Given the description of an element on the screen output the (x, y) to click on. 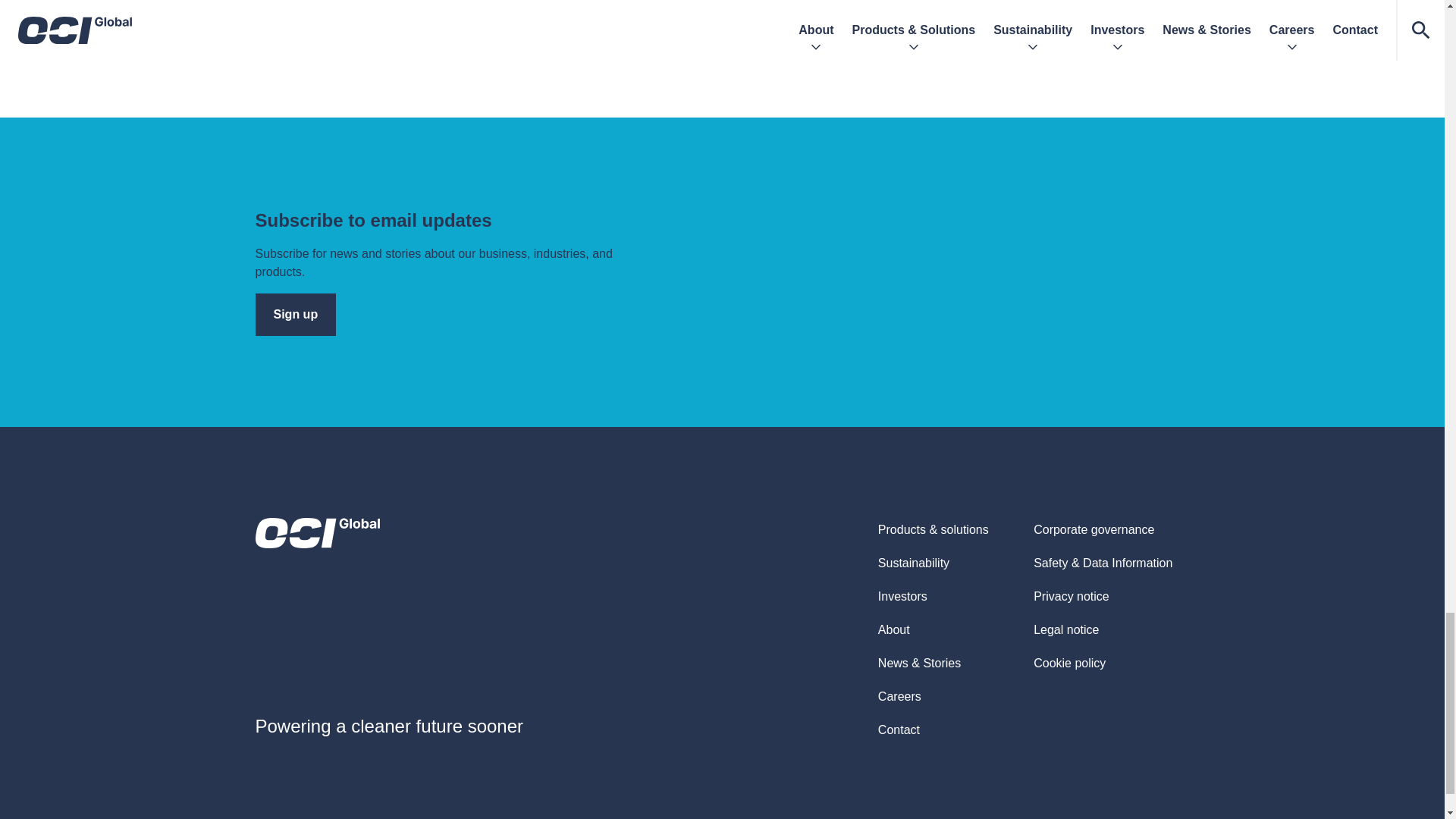
OCI N.V. (316, 532)
